Given the description of an element on the screen output the (x, y) to click on. 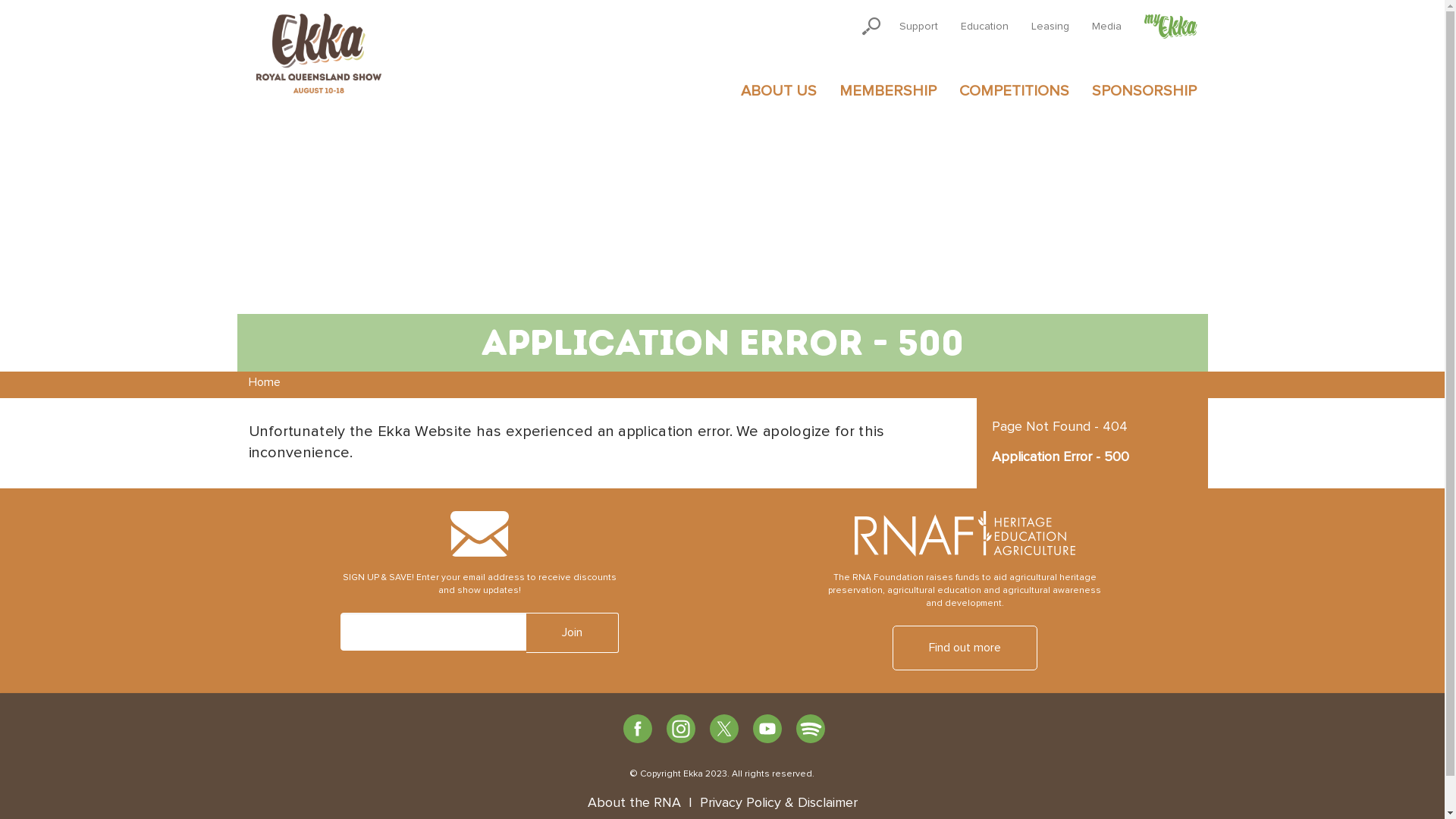
Ekka logo Element type: hover (319, 53)
Media Element type: text (1105, 26)
Leasing Element type: text (1049, 26)
SPONSORSHIP Element type: text (1143, 90)
Join Element type: text (572, 632)
Home Element type: text (264, 382)
Find out more Element type: text (964, 647)
Spotify Element type: hover (810, 728)
Support Element type: text (917, 26)
Twitter Element type: hover (723, 728)
MEMBERSHIP Element type: text (887, 90)
Instagram Element type: hover (680, 728)
Page Not Found - 404 Element type: text (1091, 427)
logo Element type: hover (964, 533)
COMPETITIONS Element type: text (1013, 90)
About the RNA Element type: text (633, 802)
logo Element type: hover (479, 533)
Application Error - 500 Element type: text (1091, 457)
Education Element type: text (984, 26)
Youtube Element type: hover (767, 728)
Facebook Element type: hover (637, 728)
Privacy Policy & Disclaimer Element type: text (777, 802)
ABOUT US Element type: text (778, 90)
